Given the description of an element on the screen output the (x, y) to click on. 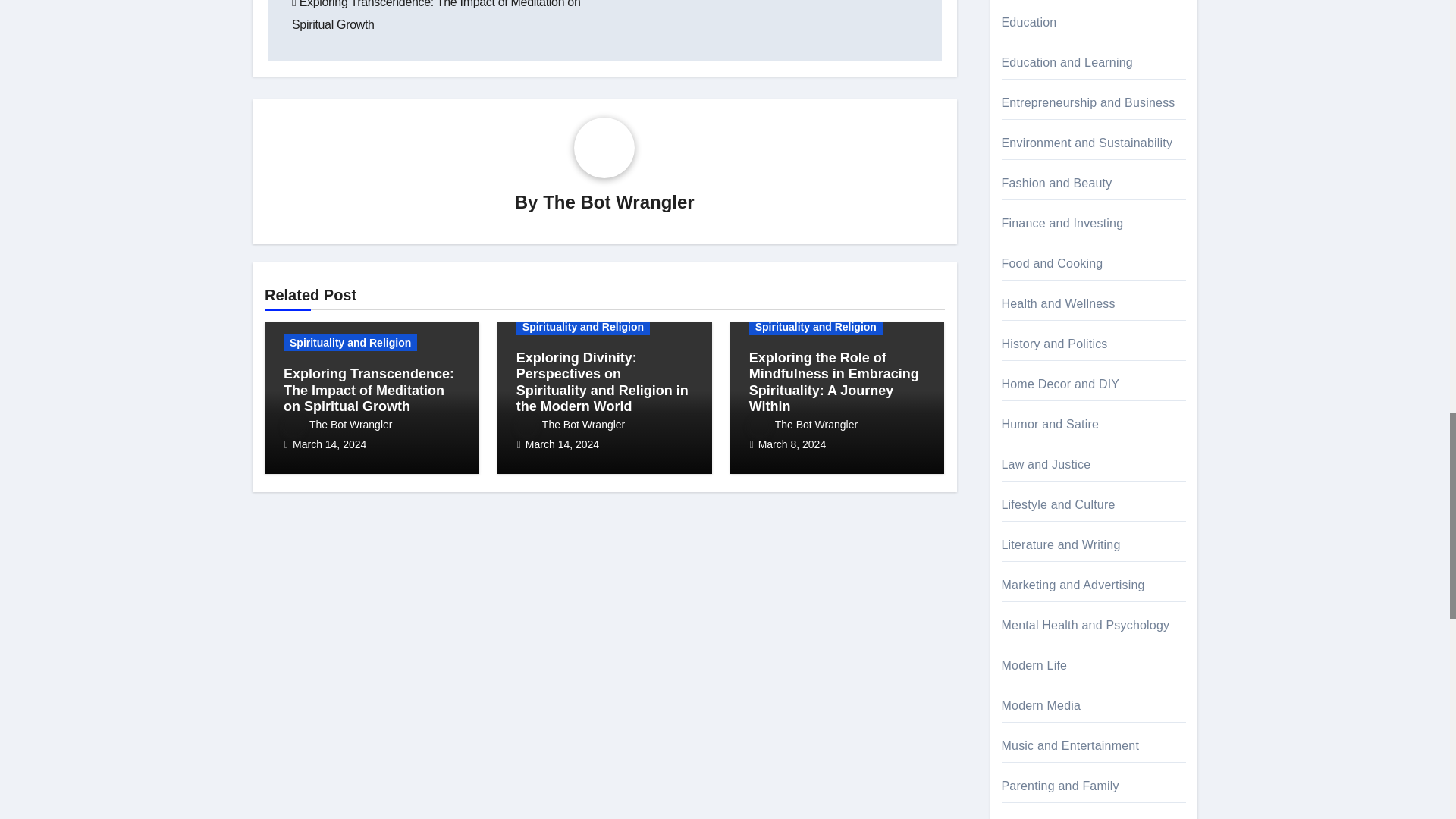
The Bot Wrangler (337, 424)
Spirituality and Religion (349, 342)
March 14, 2024 (329, 444)
Spirituality and Religion (582, 326)
